Given the description of an element on the screen output the (x, y) to click on. 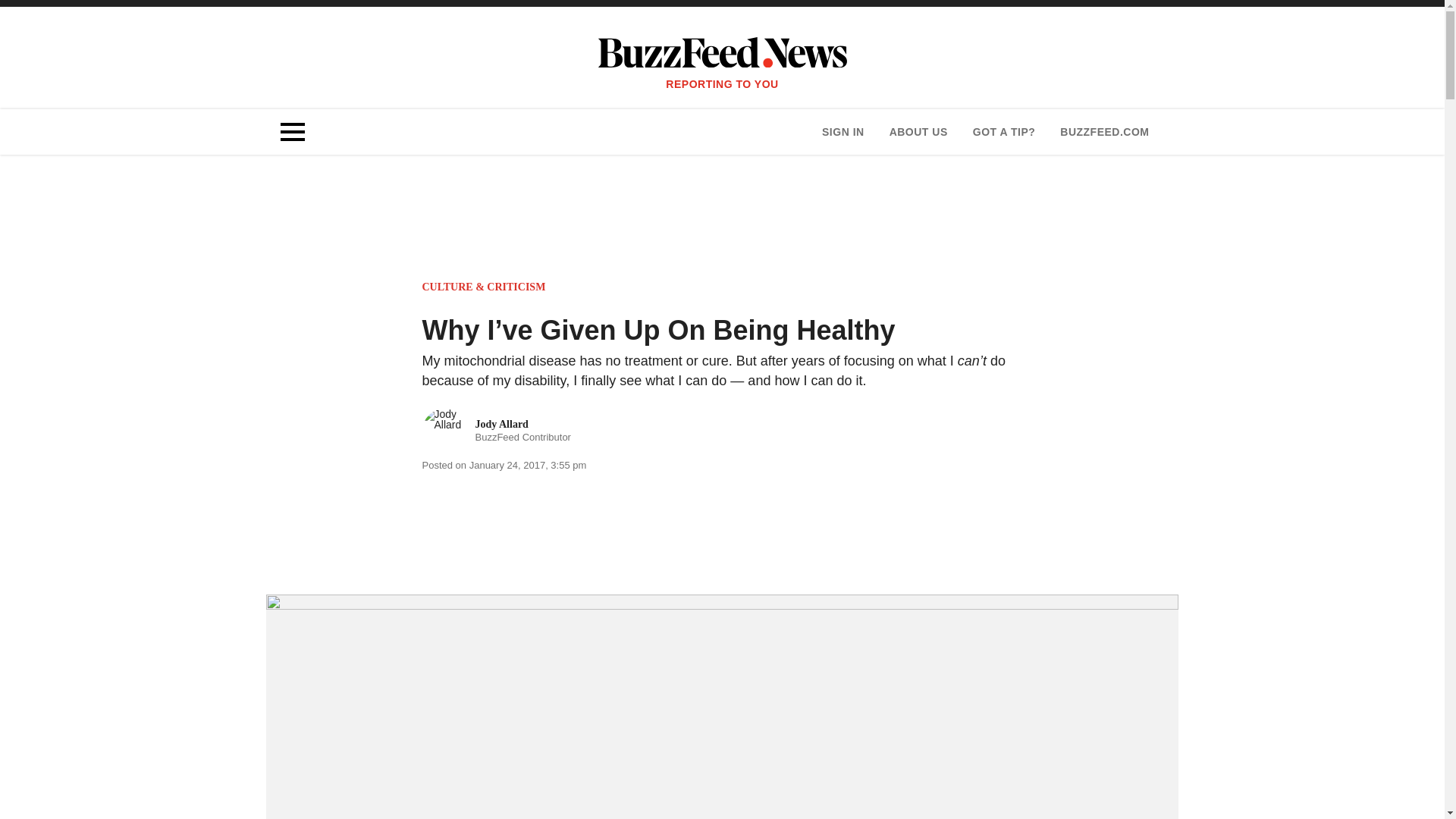
GOT A TIP? (1003, 131)
BUZZFEED.COM (496, 430)
ABOUT US (1103, 131)
SIGN IN (917, 131)
